Given the description of an element on the screen output the (x, y) to click on. 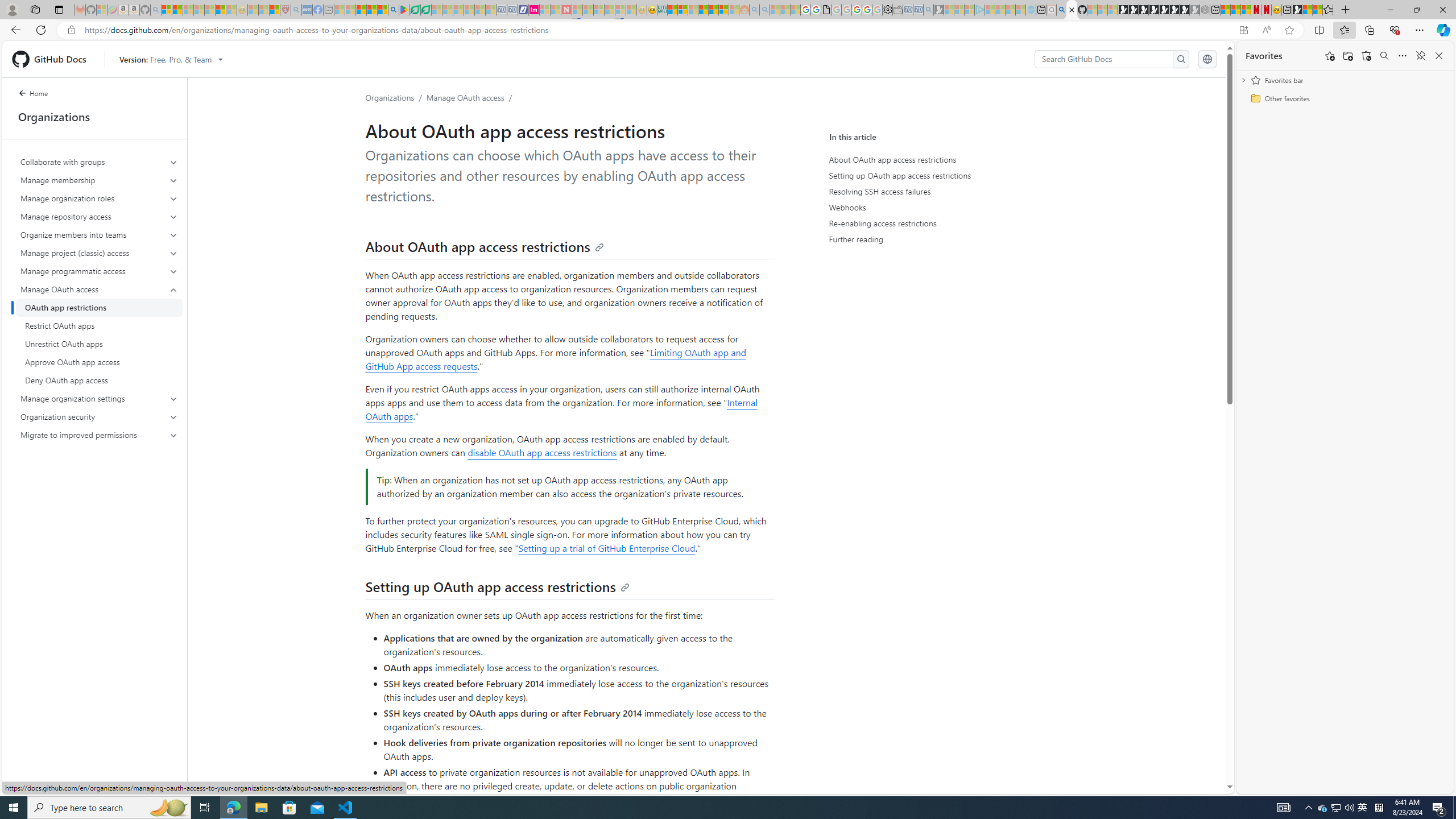
Organization security (99, 416)
Deny OAuth app access (99, 380)
Restore deleted favorites (1366, 55)
Jobs - lastminute.com Investor Portal (534, 9)
